Given the description of an element on the screen output the (x, y) to click on. 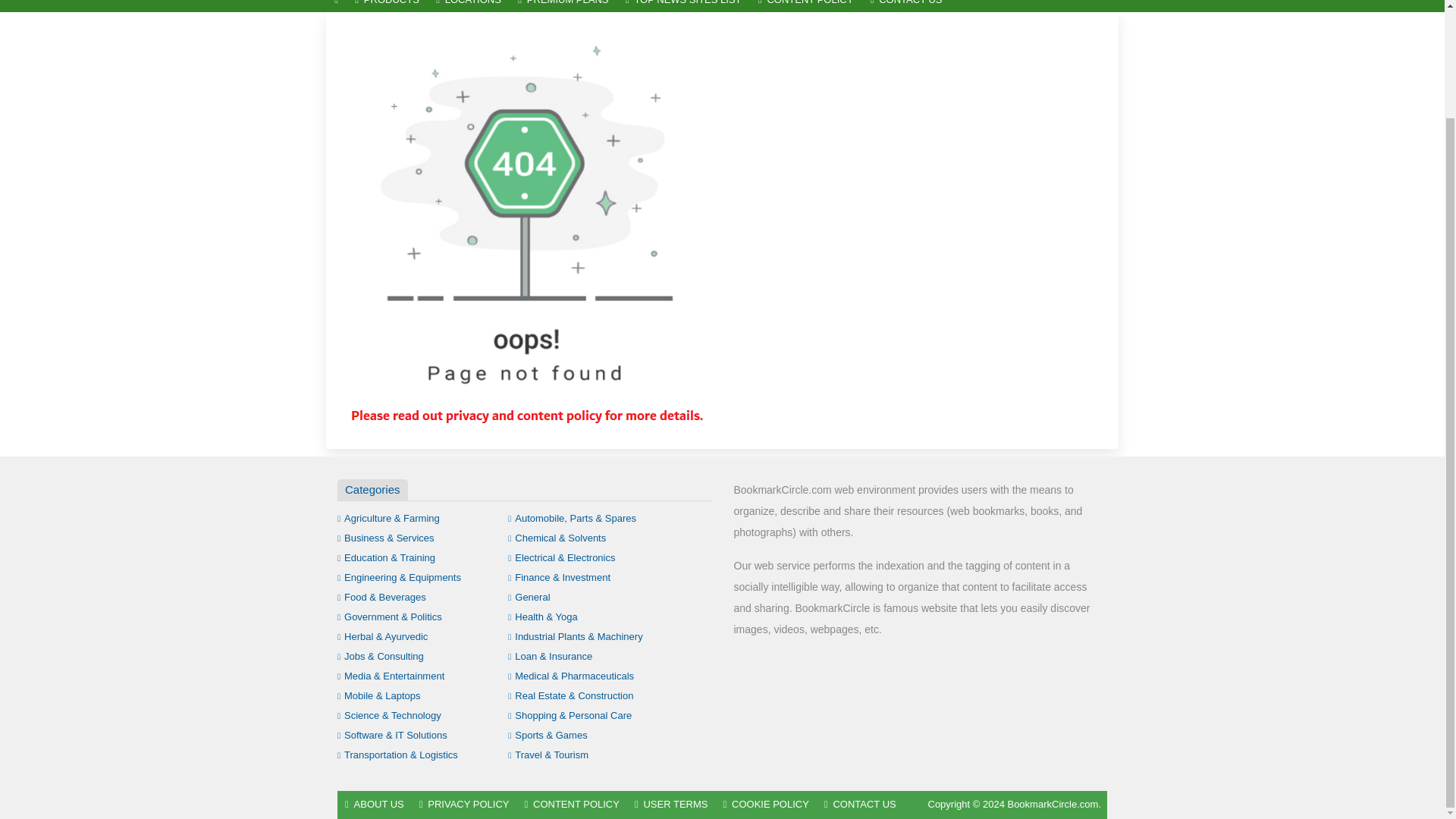
CONTACT US (905, 6)
PRODUCTS (387, 6)
LOCATIONS (468, 6)
TOP NEWS SITES LIST (683, 6)
CONTENT POLICY (805, 6)
HOME (336, 6)
PREMIUM PLANS (563, 6)
General (529, 596)
